Given the description of an element on the screen output the (x, y) to click on. 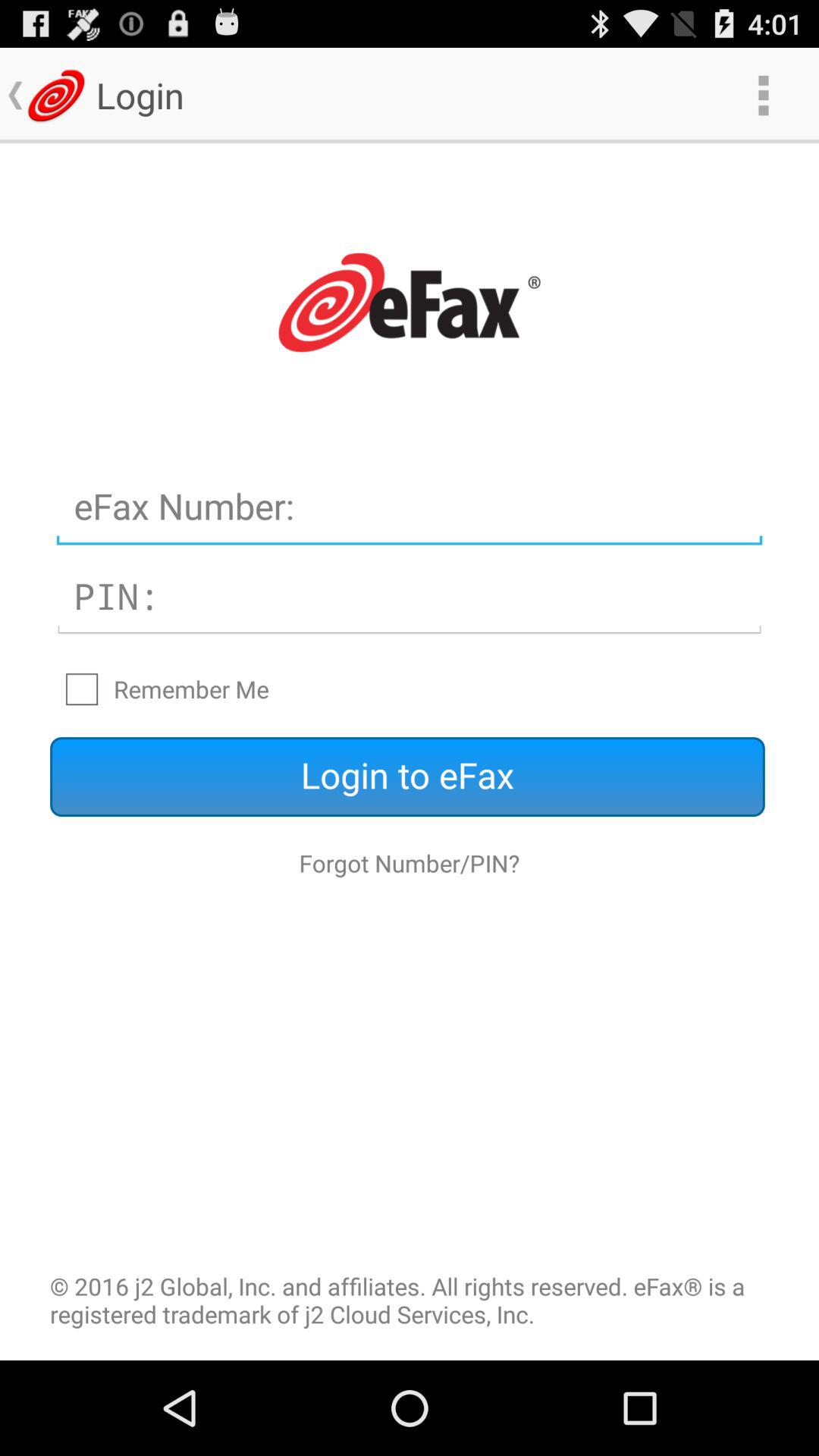
select the icon below login to efax (409, 862)
